Given the description of an element on the screen output the (x, y) to click on. 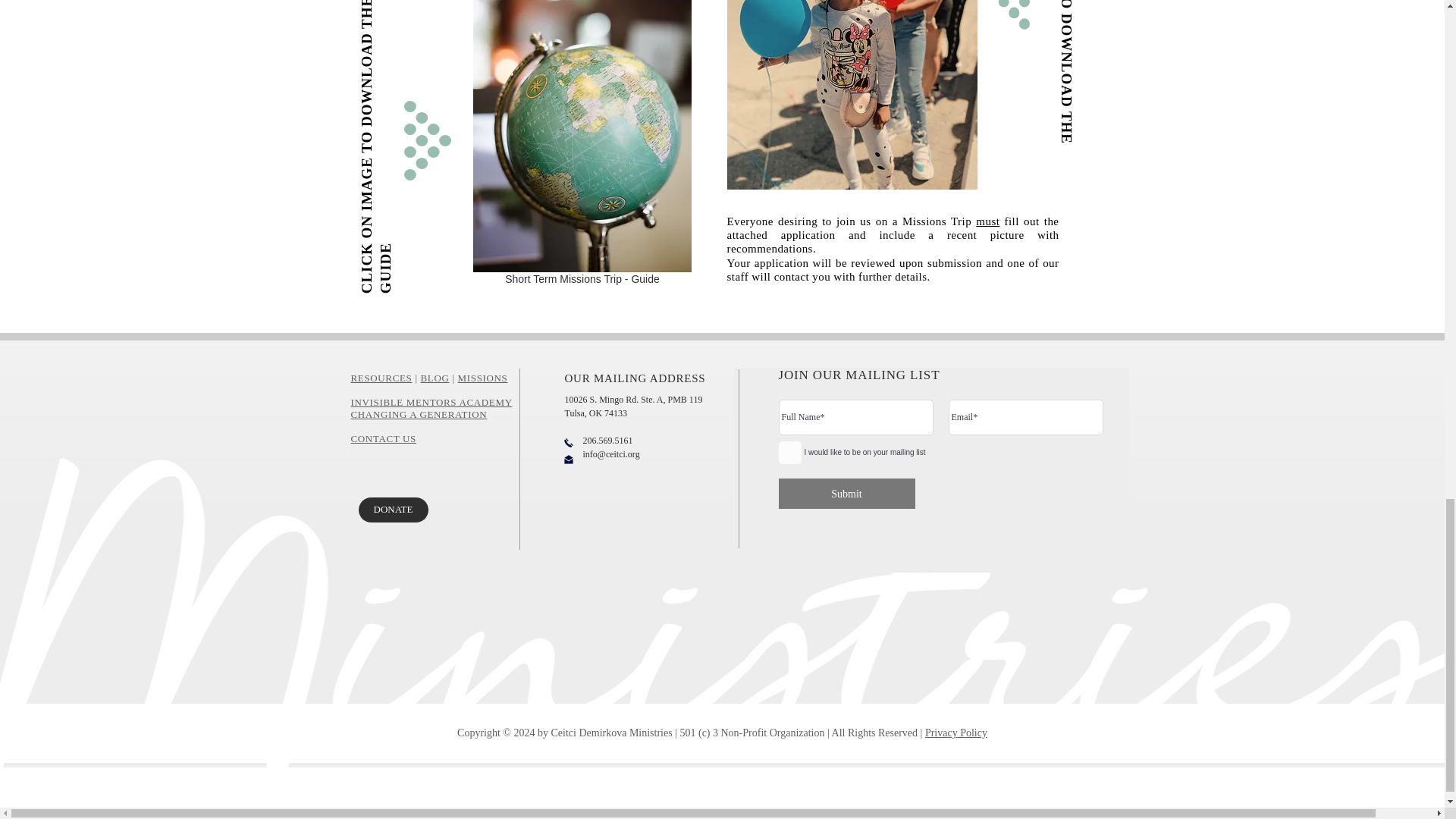
DONATE (393, 509)
Privacy Policy (955, 732)
MISSIONS (483, 378)
Submit (845, 493)
CHANGING A GENERATION (418, 414)
CONTACT US (382, 438)
INVISIBLE MENTORS ACADEMY (431, 401)
BLOG (434, 378)
RESOURCES (381, 378)
